Given the description of an element on the screen output the (x, y) to click on. 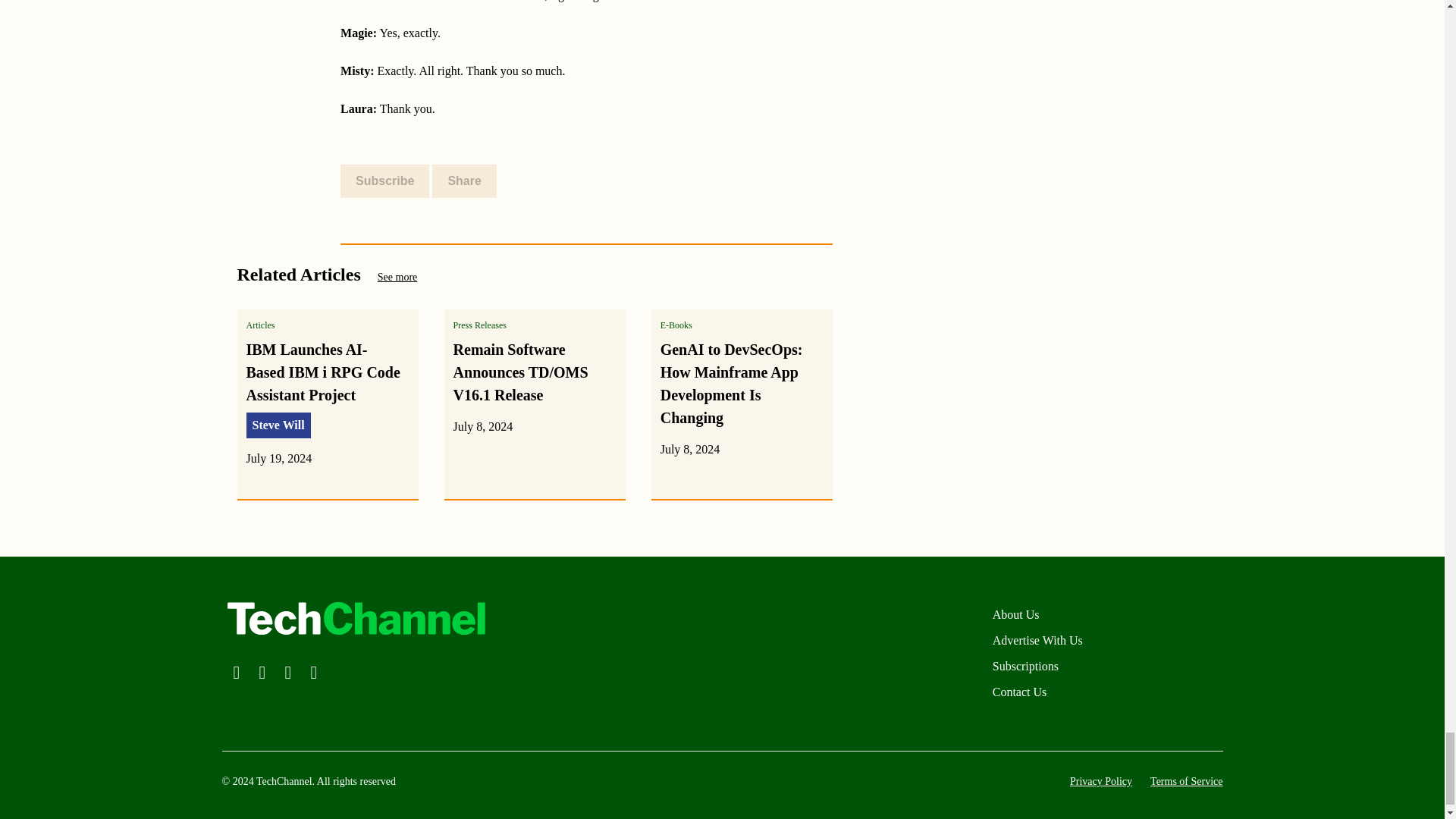
Copy Page URL (479, 180)
